Given the description of an element on the screen output the (x, y) to click on. 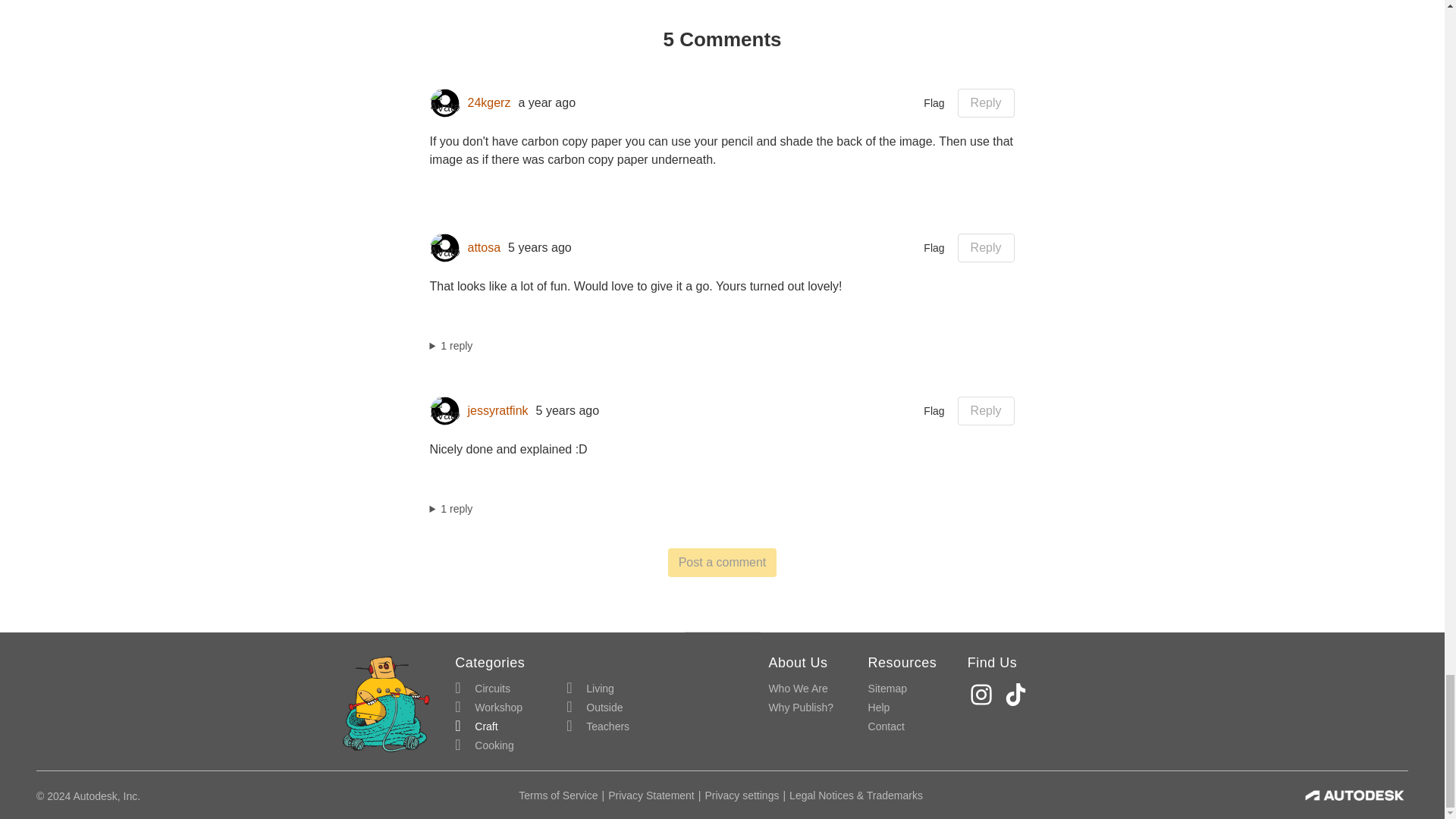
2019-09-17 07:31:32.0 (567, 410)
TikTok (1018, 694)
2019-11-09 19:16:14.0 (540, 247)
Instagram (983, 694)
2023-02-08 07:13:55.0 (546, 102)
